Given the description of an element on the screen output the (x, y) to click on. 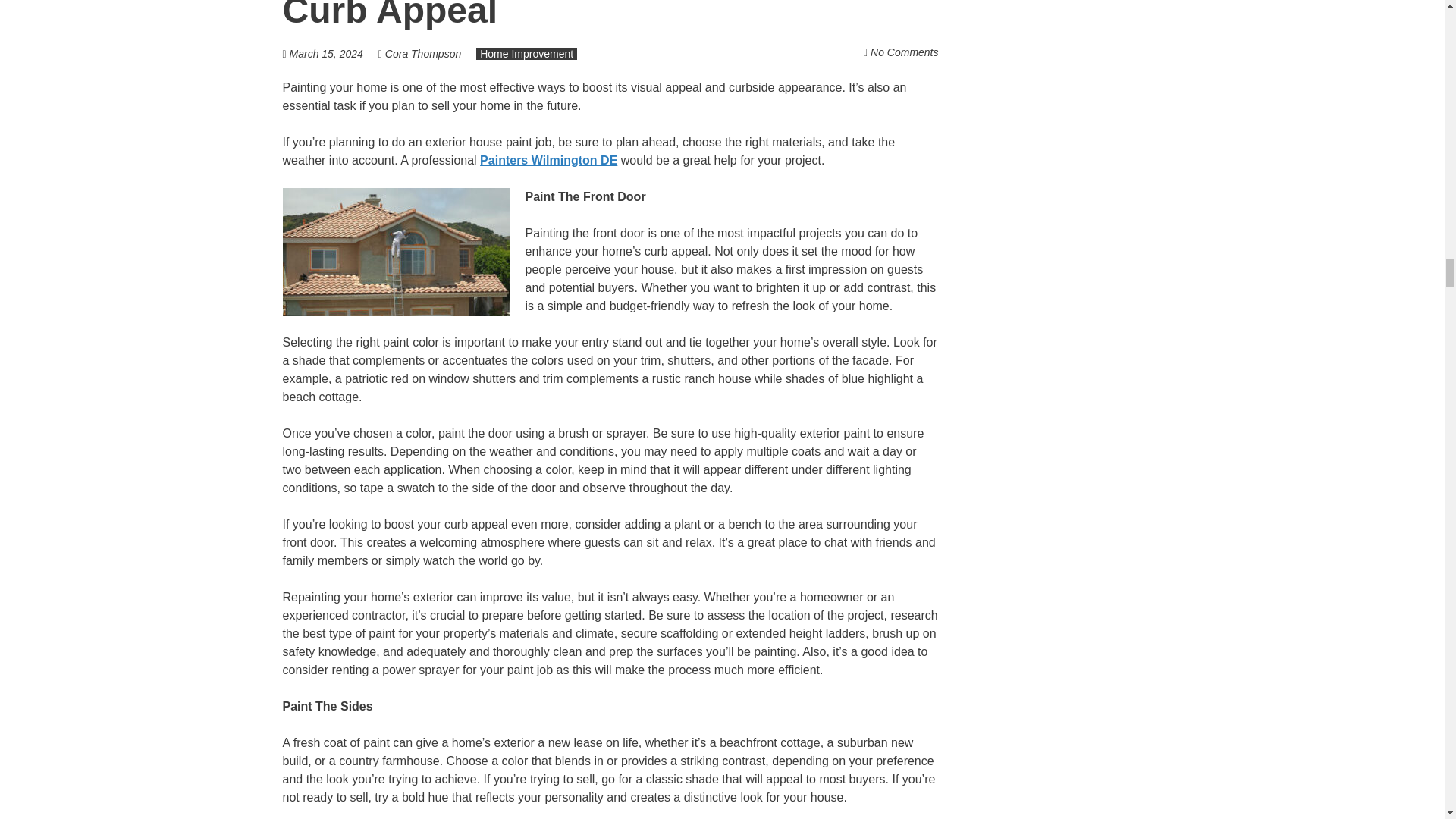
No Comments (903, 51)
March 15, 2024 (325, 53)
View all posts by Cora Thompson (423, 53)
Painters Wilmington DE (548, 160)
Cora Thompson (423, 53)
Home Improvement (526, 53)
